Given the description of an element on the screen output the (x, y) to click on. 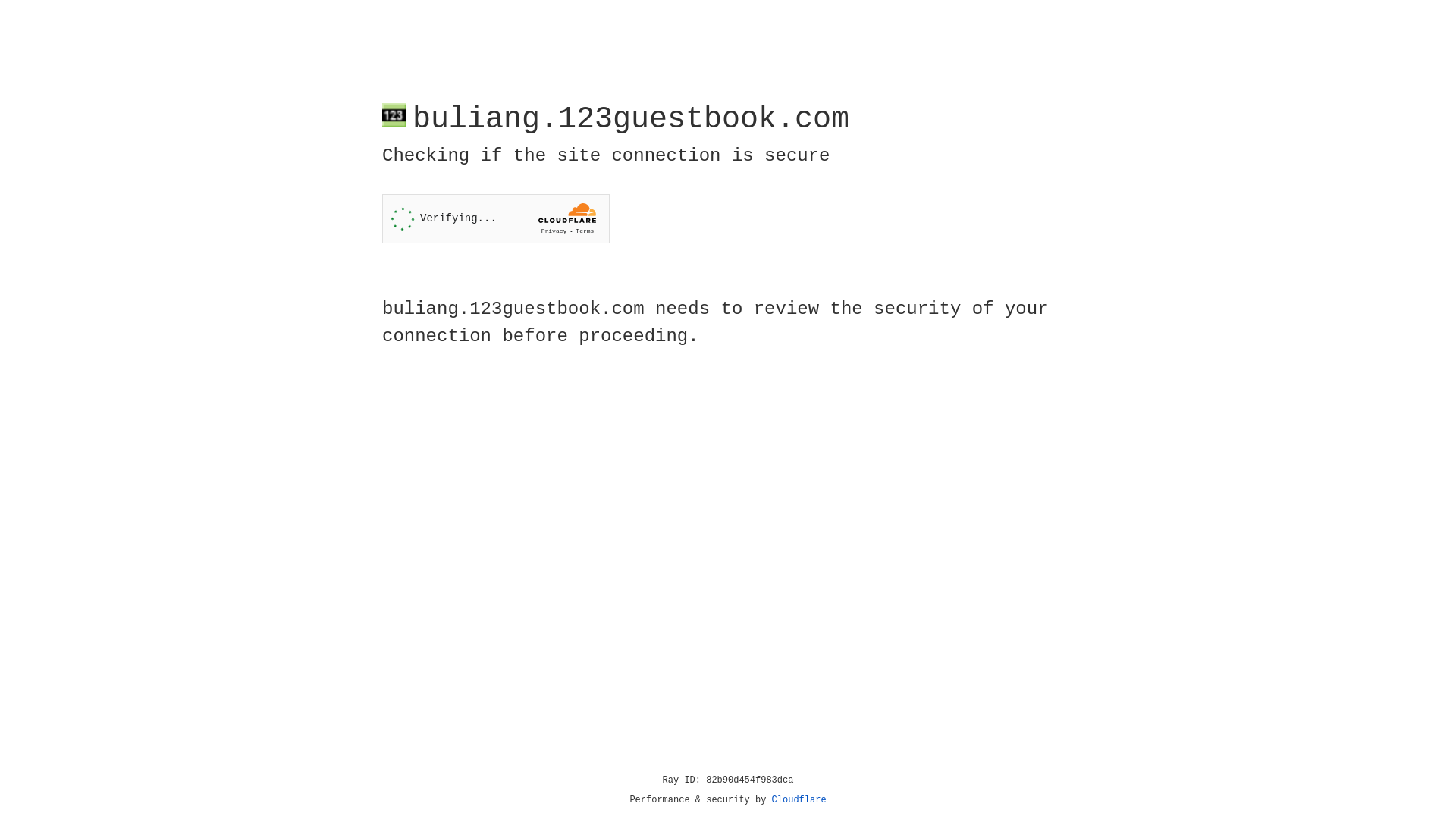
Cloudflare Element type: text (798, 799)
Widget containing a Cloudflare security challenge Element type: hover (495, 218)
